Given the description of an element on the screen output the (x, y) to click on. 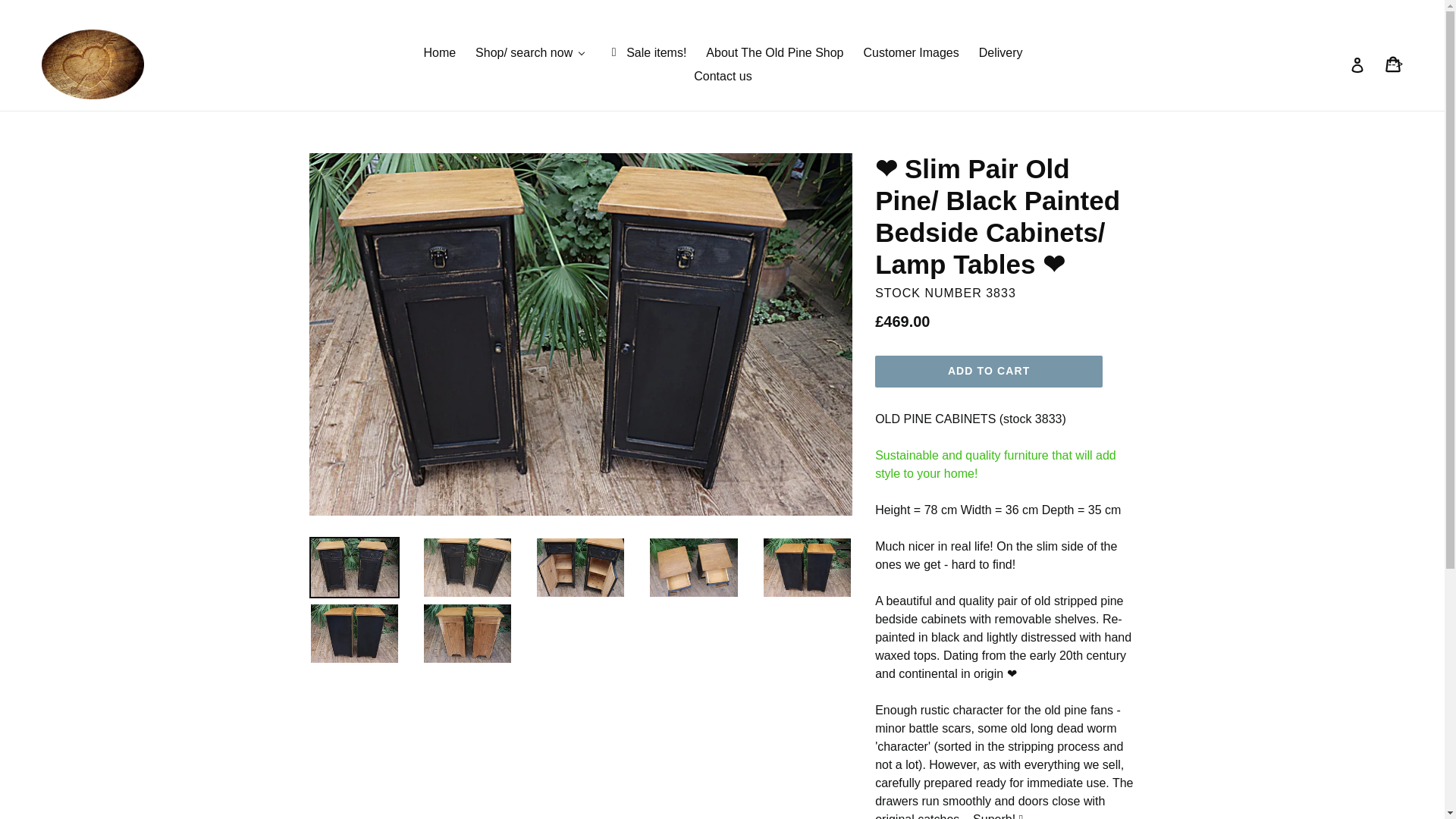
Home (438, 52)
